Given the description of an element on the screen output the (x, y) to click on. 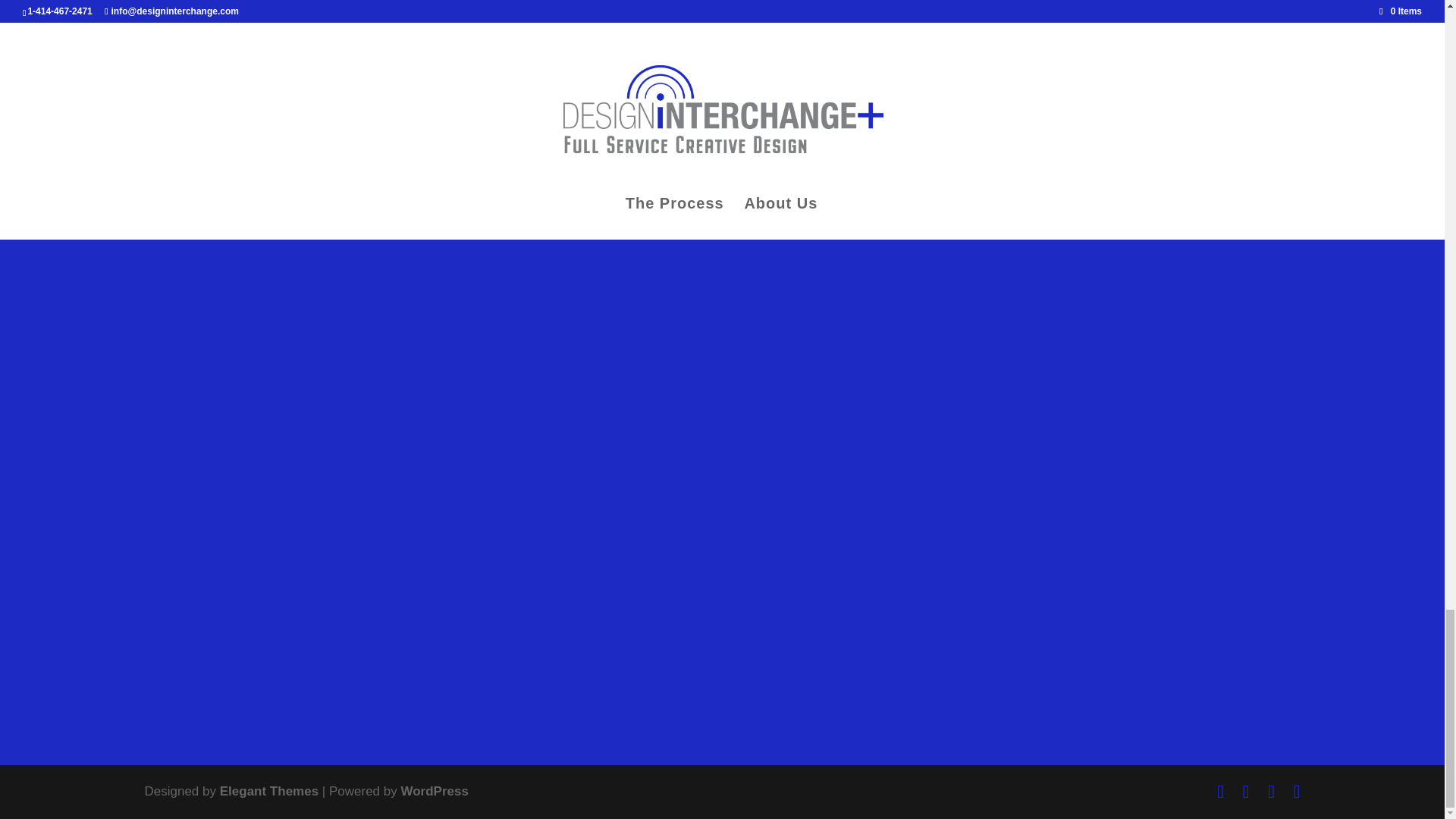
Elegant Themes (268, 790)
WordPress (433, 790)
Premium WordPress Themes (268, 790)
